Given the description of an element on the screen output the (x, y) to click on. 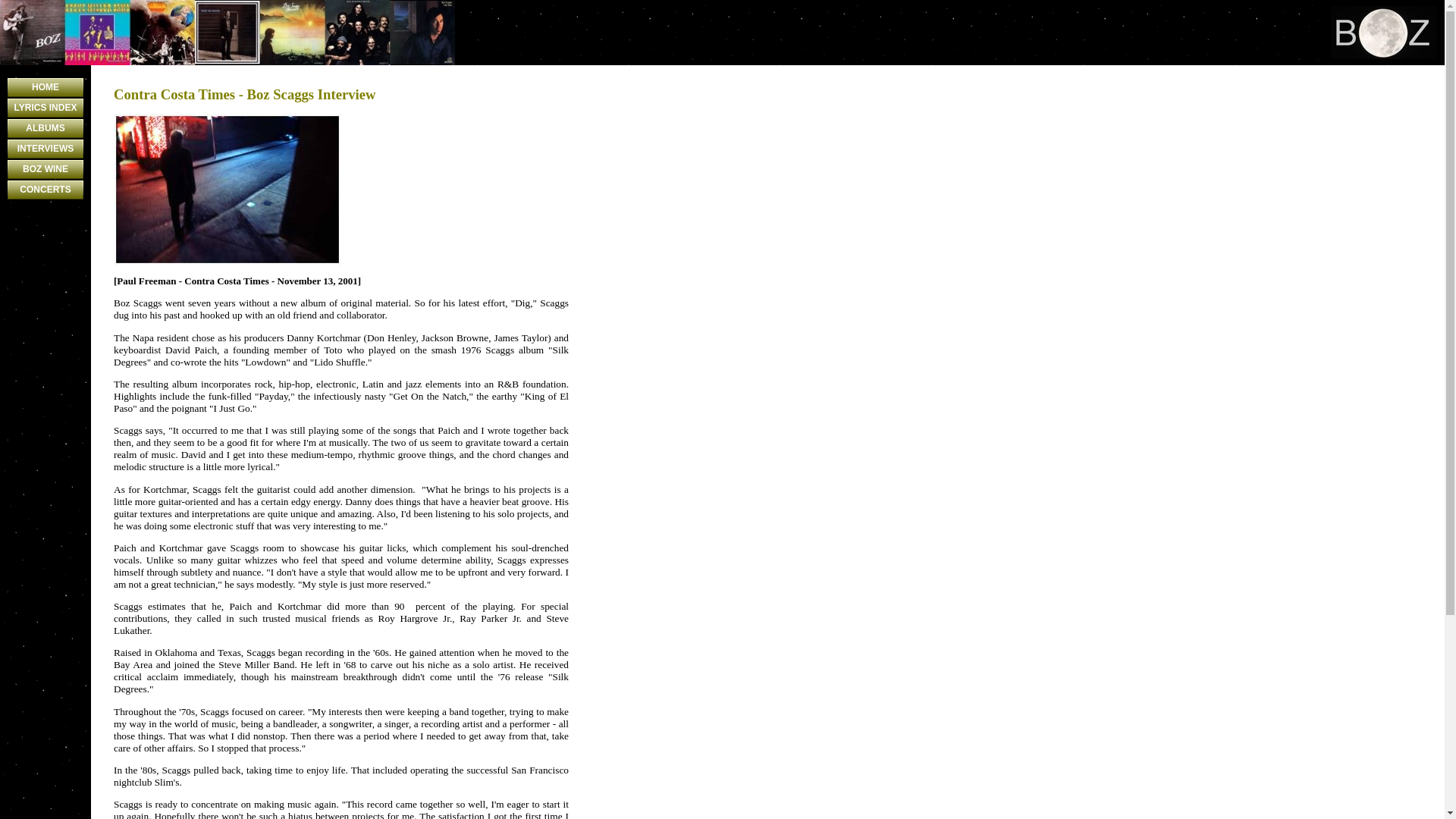
INTERVIEWS (44, 148)
HOME (44, 87)
ALBUMS (44, 128)
LYRICS INDEX (44, 107)
